Given the description of an element on the screen output the (x, y) to click on. 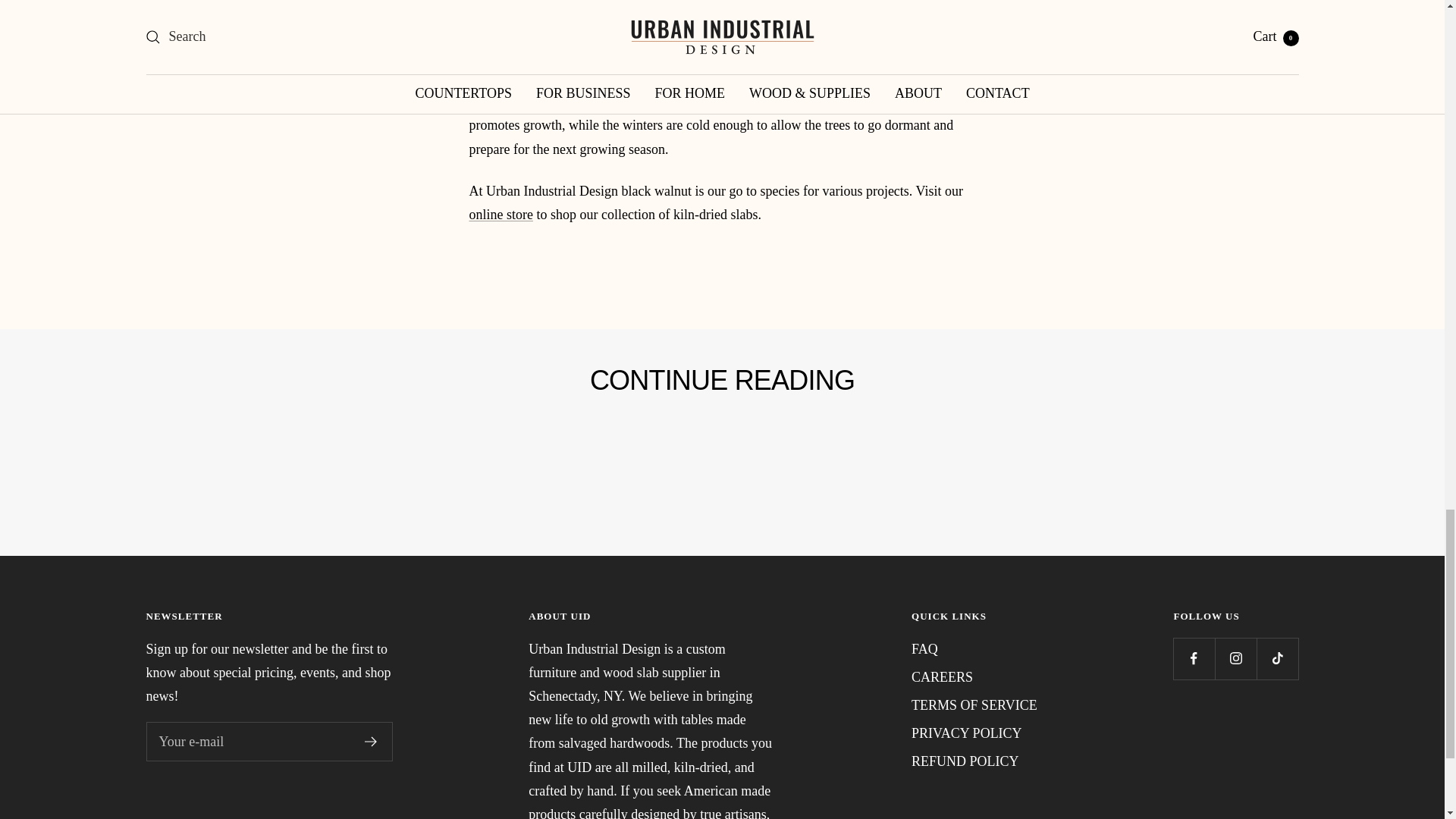
CAREERS (941, 677)
Slab Shop (500, 214)
TERMS OF SERVICE (973, 705)
online store (500, 214)
Register (370, 741)
FAQ (924, 649)
